Given the description of an element on the screen output the (x, y) to click on. 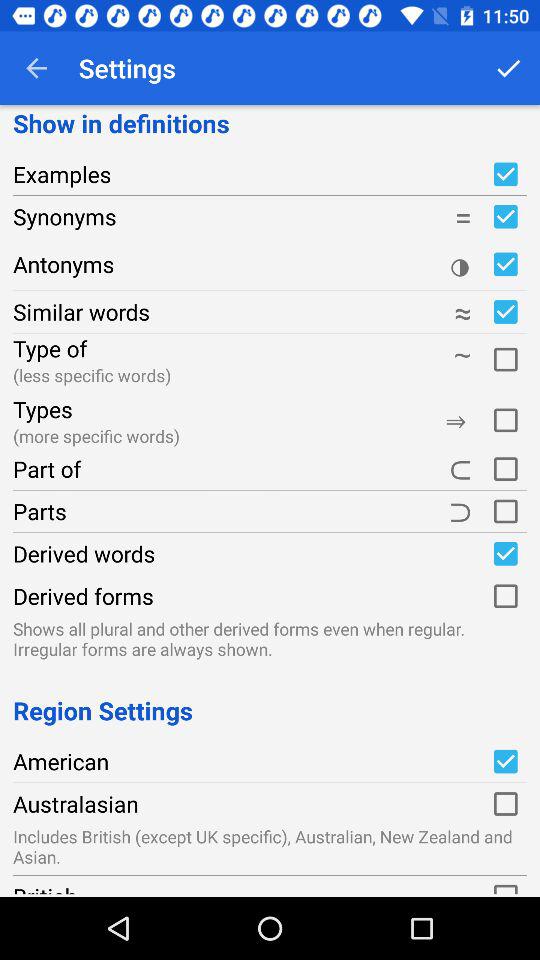
show info yes/no tick box (505, 216)
